Given the description of an element on the screen output the (x, y) to click on. 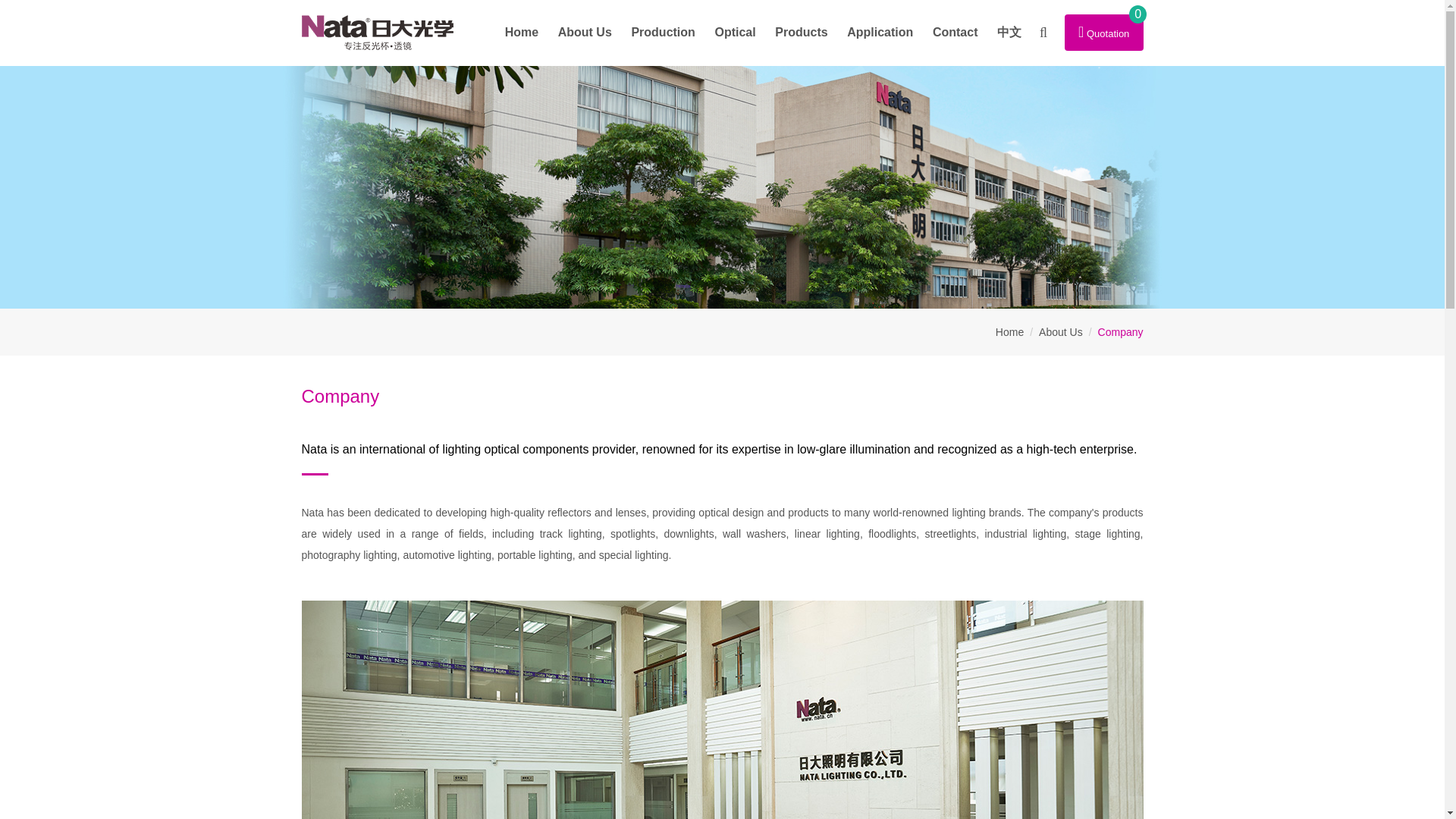
Application (880, 32)
Home (521, 32)
Contact (955, 32)
Optical (734, 32)
Production (662, 32)
About Us (584, 32)
Products (801, 32)
